Given the description of an element on the screen output the (x, y) to click on. 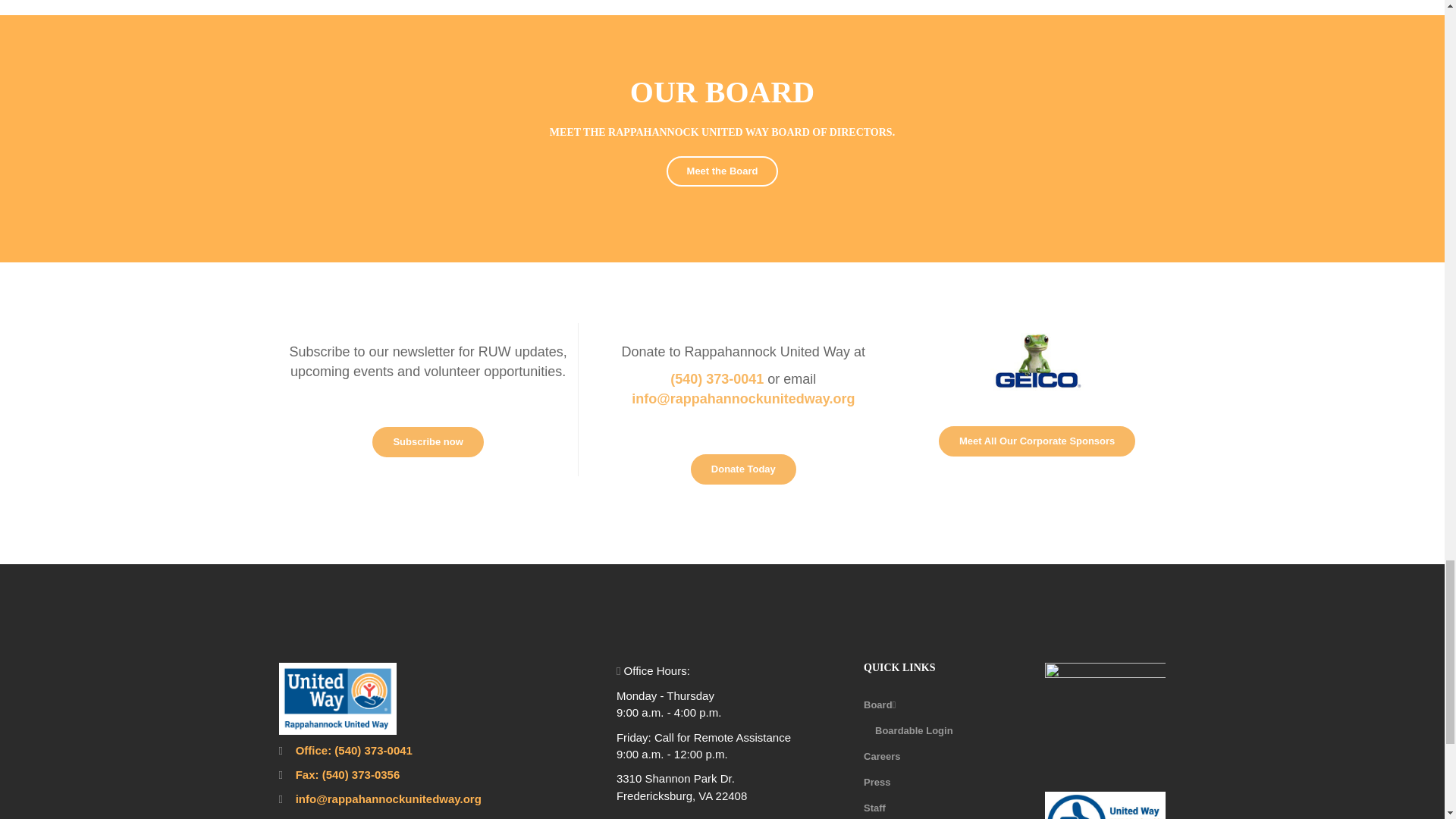
geico (1036, 360)
